Given the description of an element on the screen output the (x, y) to click on. 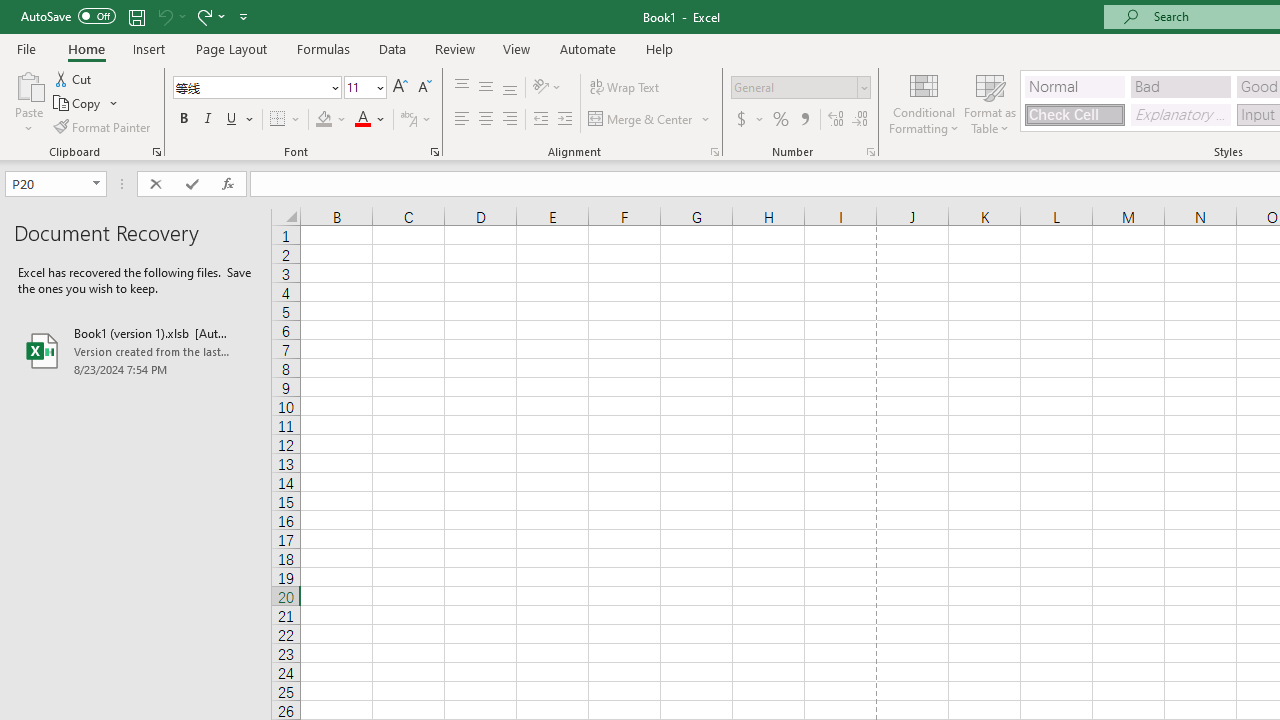
Bad (1180, 86)
Explanatory Text (1180, 114)
Paste (28, 84)
Font Color RGB(255, 0, 0) (362, 119)
Copy (78, 103)
Fill Color (331, 119)
Check Cell (1074, 114)
Bold (183, 119)
Center (485, 119)
Bottom Border (278, 119)
Office Clipboard... (156, 151)
